Given the description of an element on the screen output the (x, y) to click on. 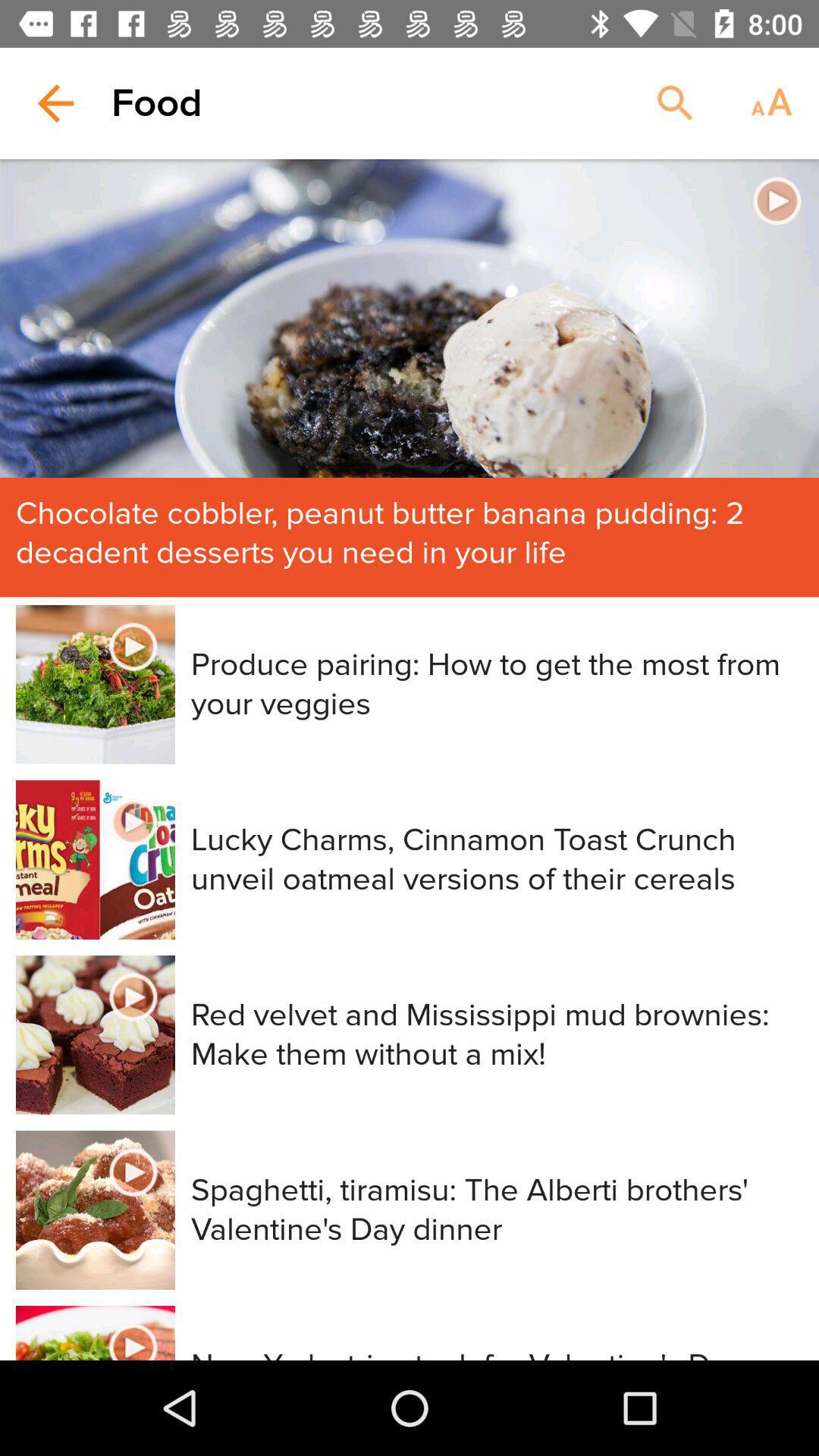
turn on the item next to food item (675, 103)
